Given the description of an element on the screen output the (x, y) to click on. 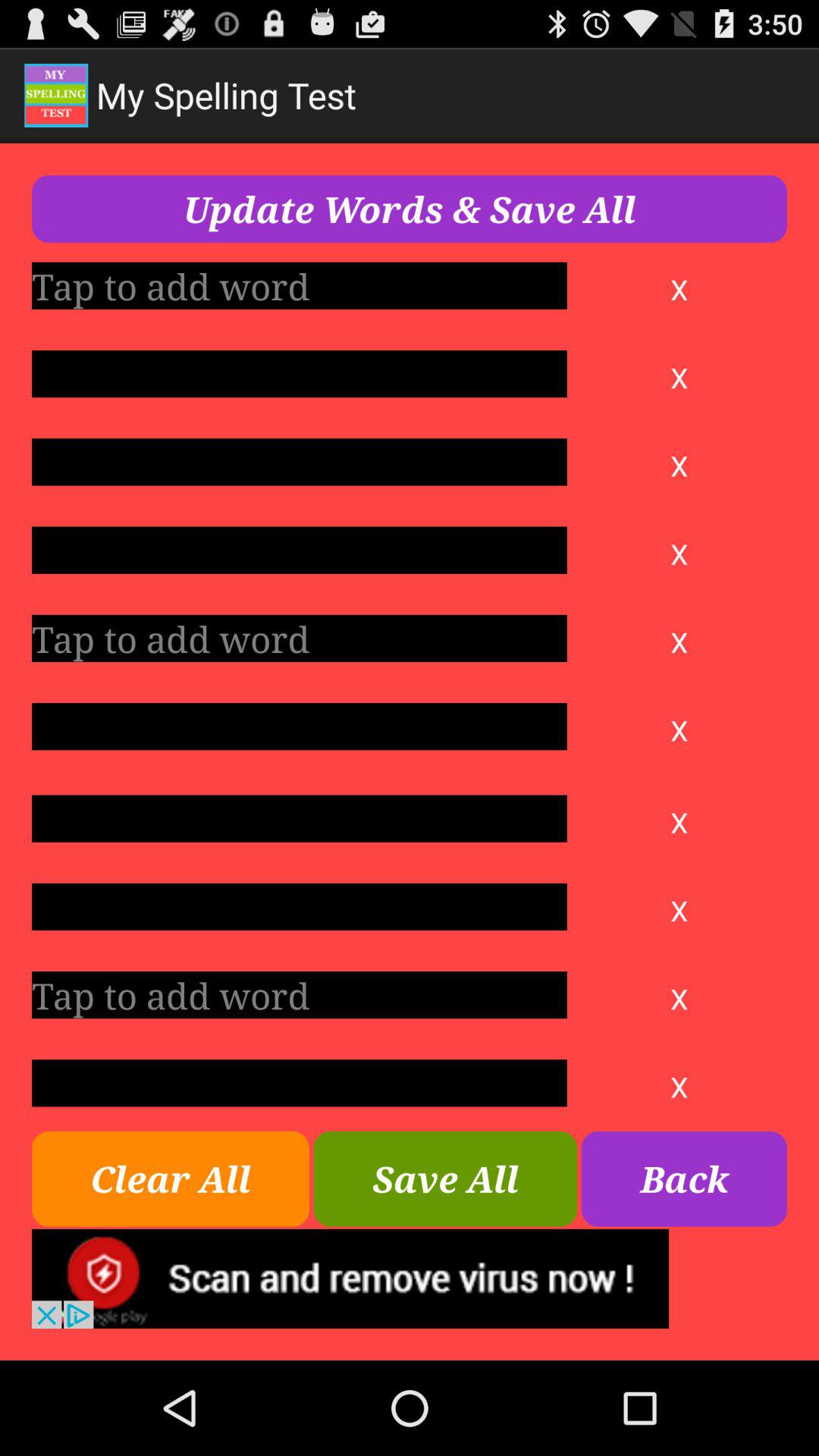
add word (299, 906)
